Given the description of an element on the screen output the (x, y) to click on. 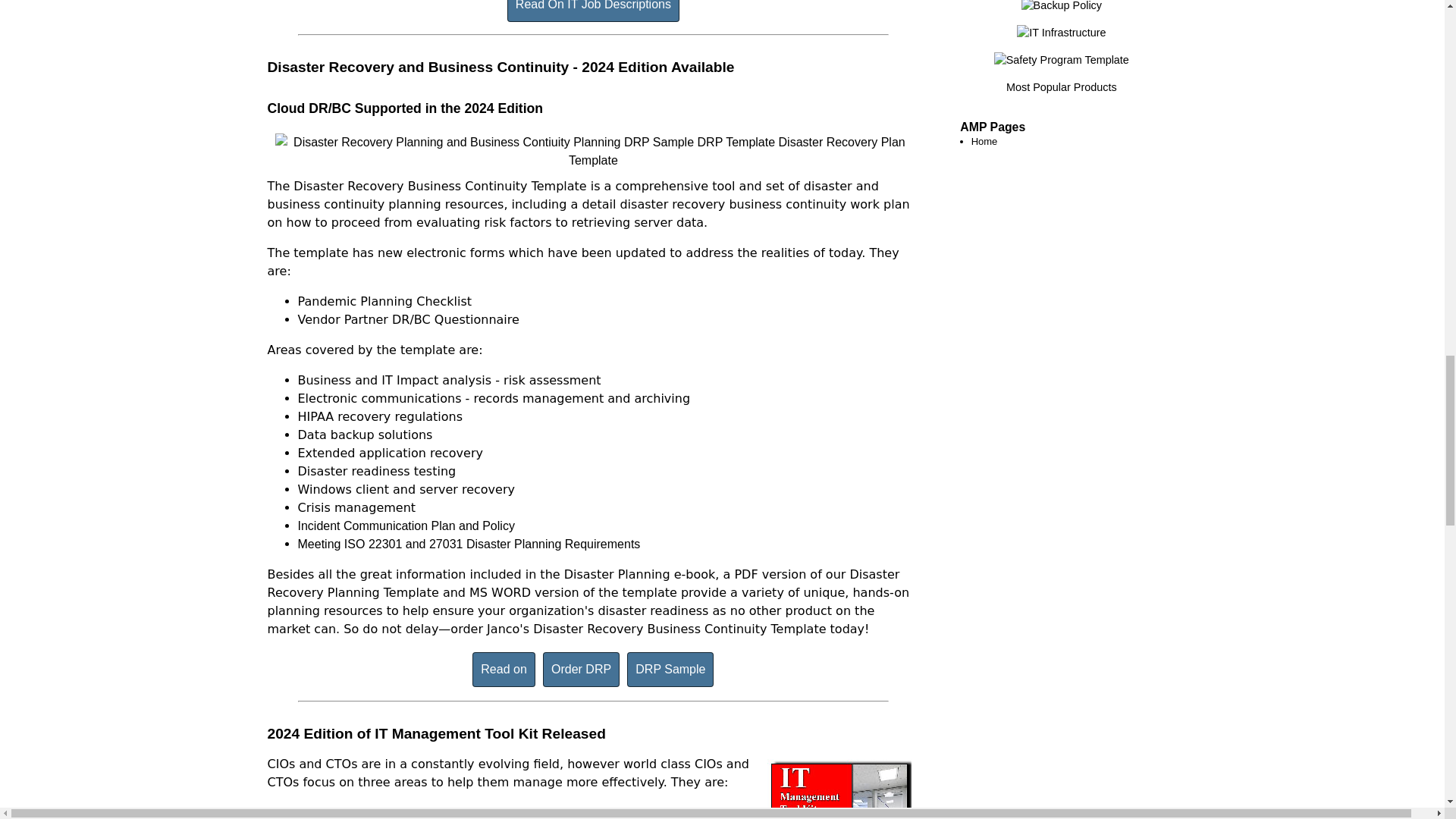
Backup Policy (1062, 5)
Infrastructure Policies and Procedures (1060, 32)
Disaster Recovery Plan Template (592, 153)
